Given the description of an element on the screen output the (x, y) to click on. 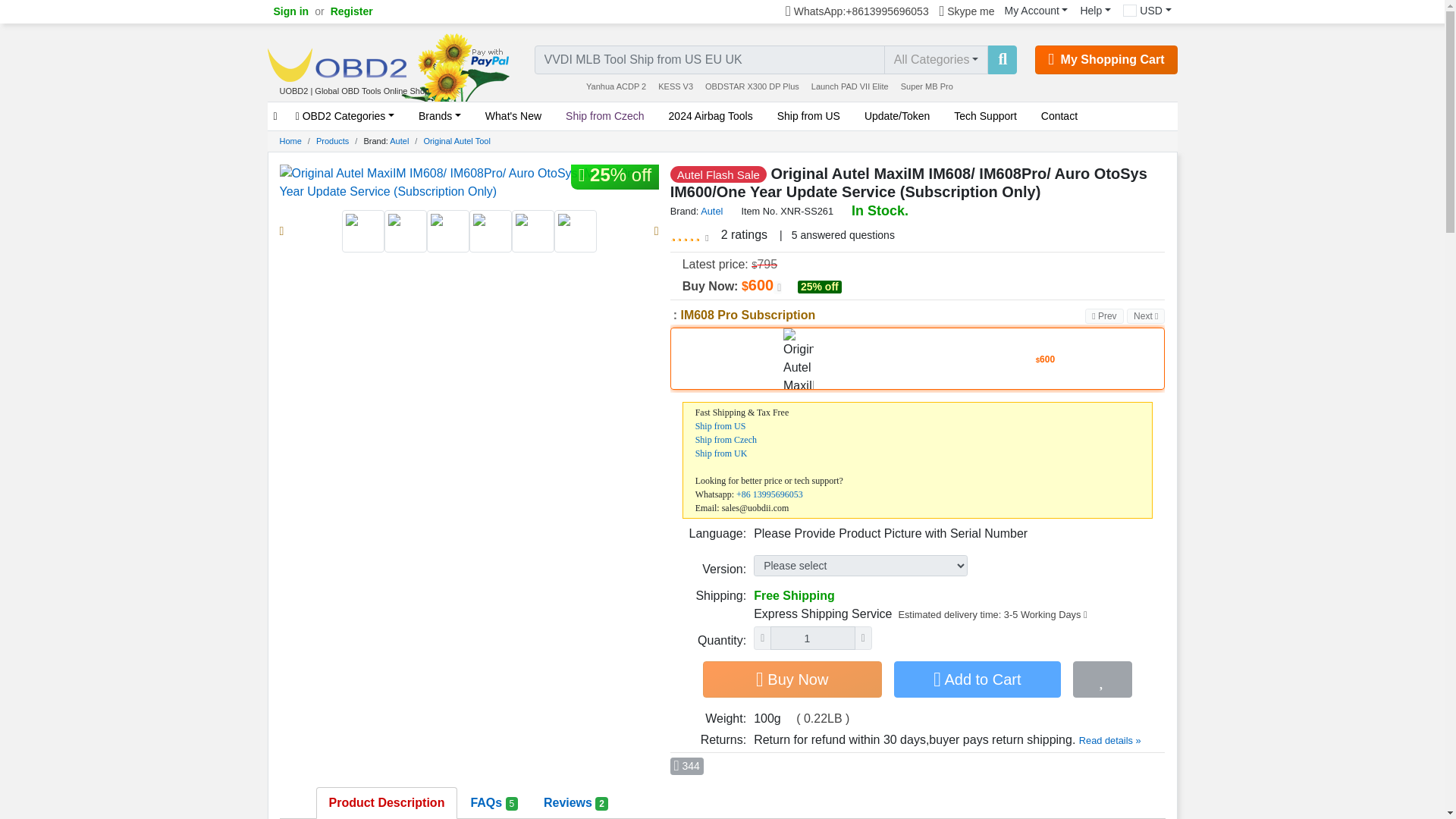
Skype me (967, 11)
My Shopping Cart (1105, 59)
My Account (1036, 11)
All Categories (935, 59)
Sign in (290, 11)
Help (1095, 11)
1 (812, 638)
Push Me! (686, 765)
Register (351, 11)
Buy It Now by PayPal (792, 678)
